Given the description of an element on the screen output the (x, y) to click on. 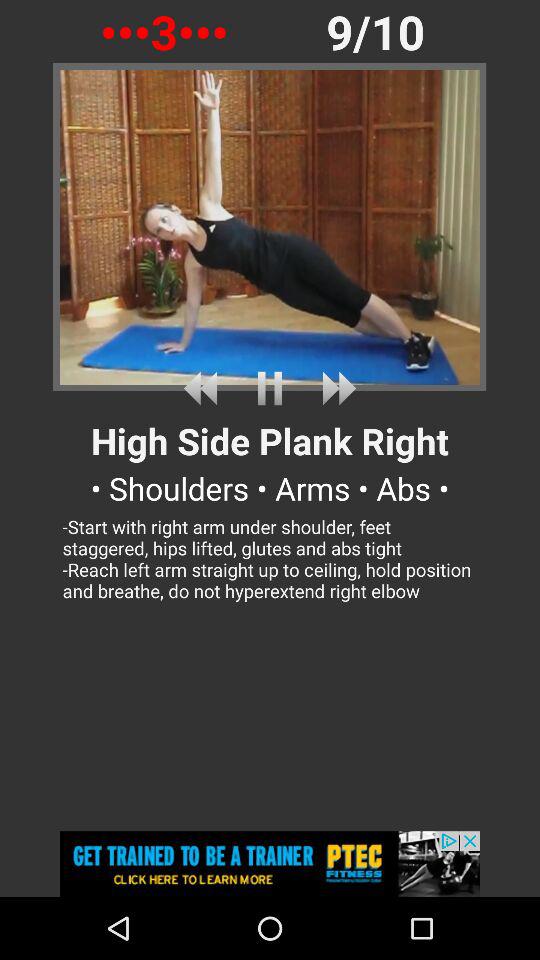
advertisement (270, 864)
